Given the description of an element on the screen output the (x, y) to click on. 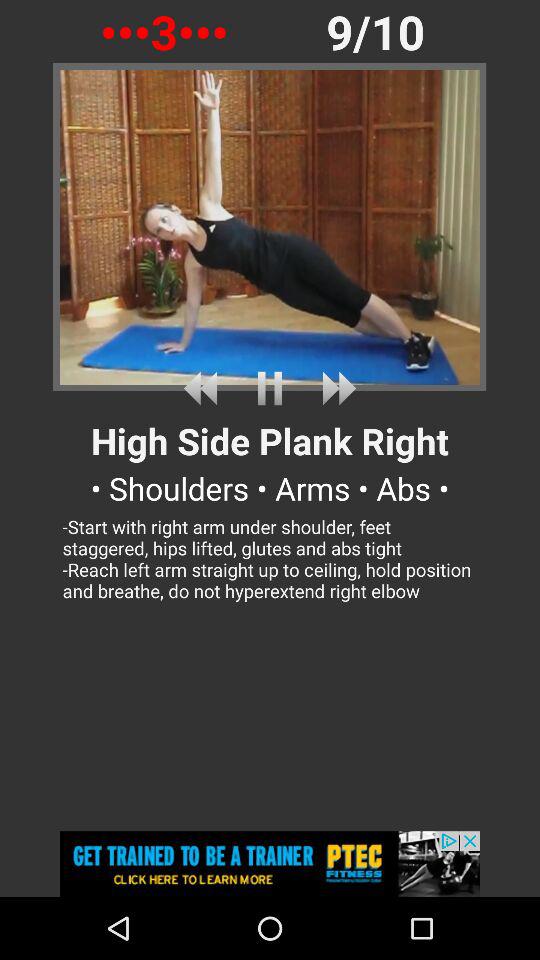
advertisement (270, 864)
